Given the description of an element on the screen output the (x, y) to click on. 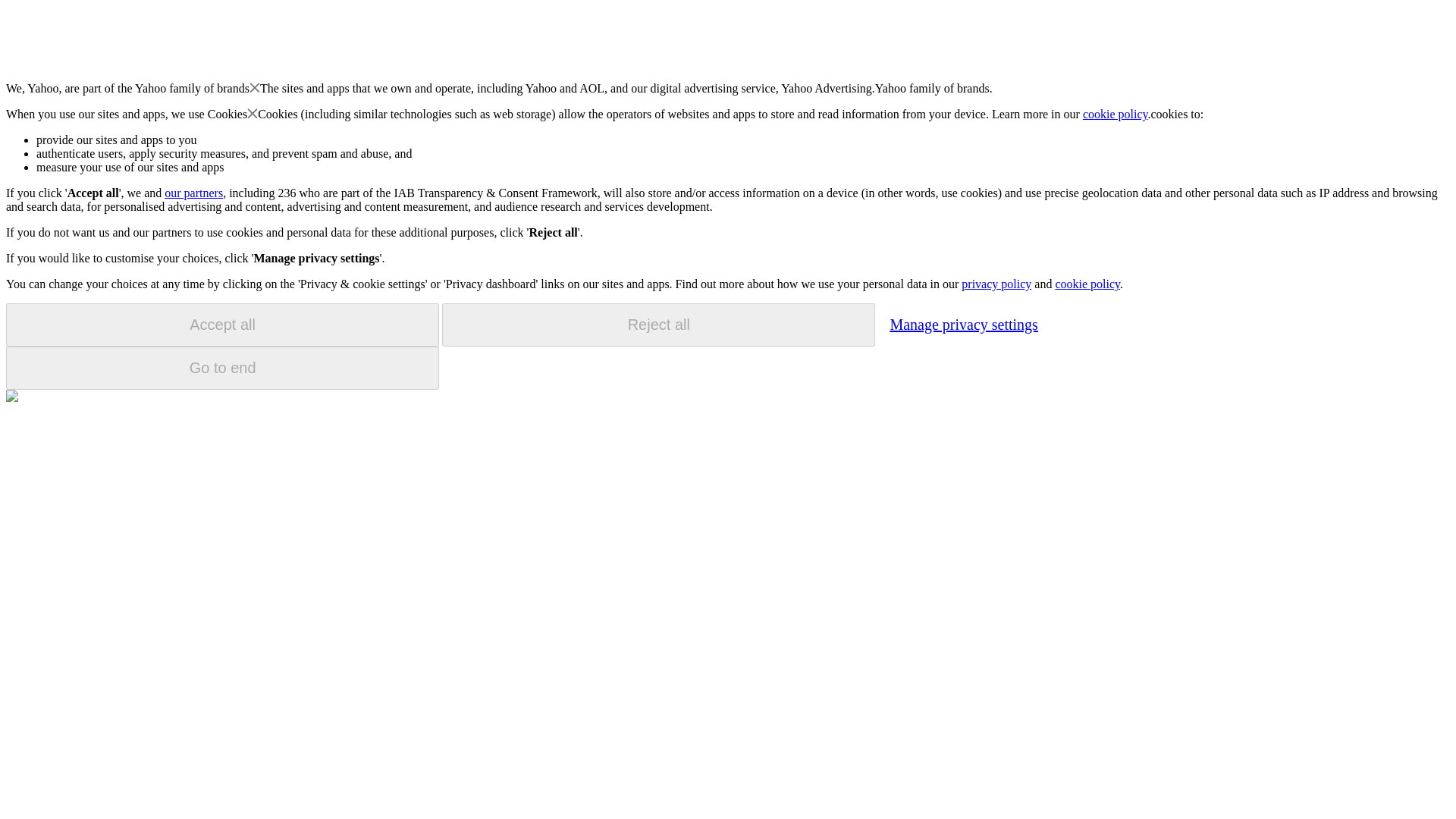
cookie policy (1086, 283)
our partners (193, 192)
Reject all (658, 324)
Manage privacy settings (963, 323)
Go to end (222, 367)
privacy policy (995, 283)
Accept all (222, 324)
cookie policy (1115, 113)
